Given the description of an element on the screen output the (x, y) to click on. 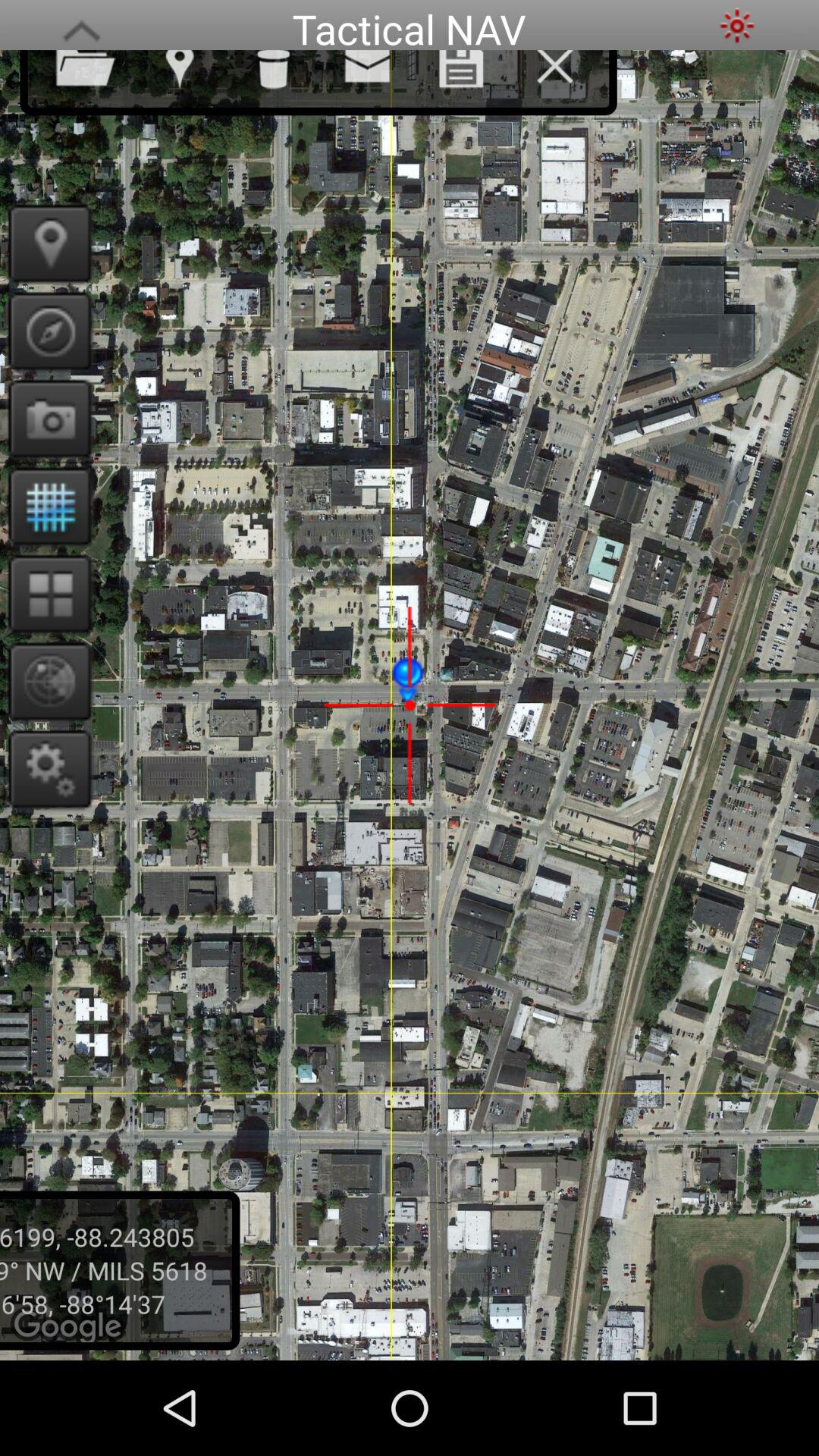
click the app to the left of the tactical nav (81, 25)
